Given the description of an element on the screen output the (x, y) to click on. 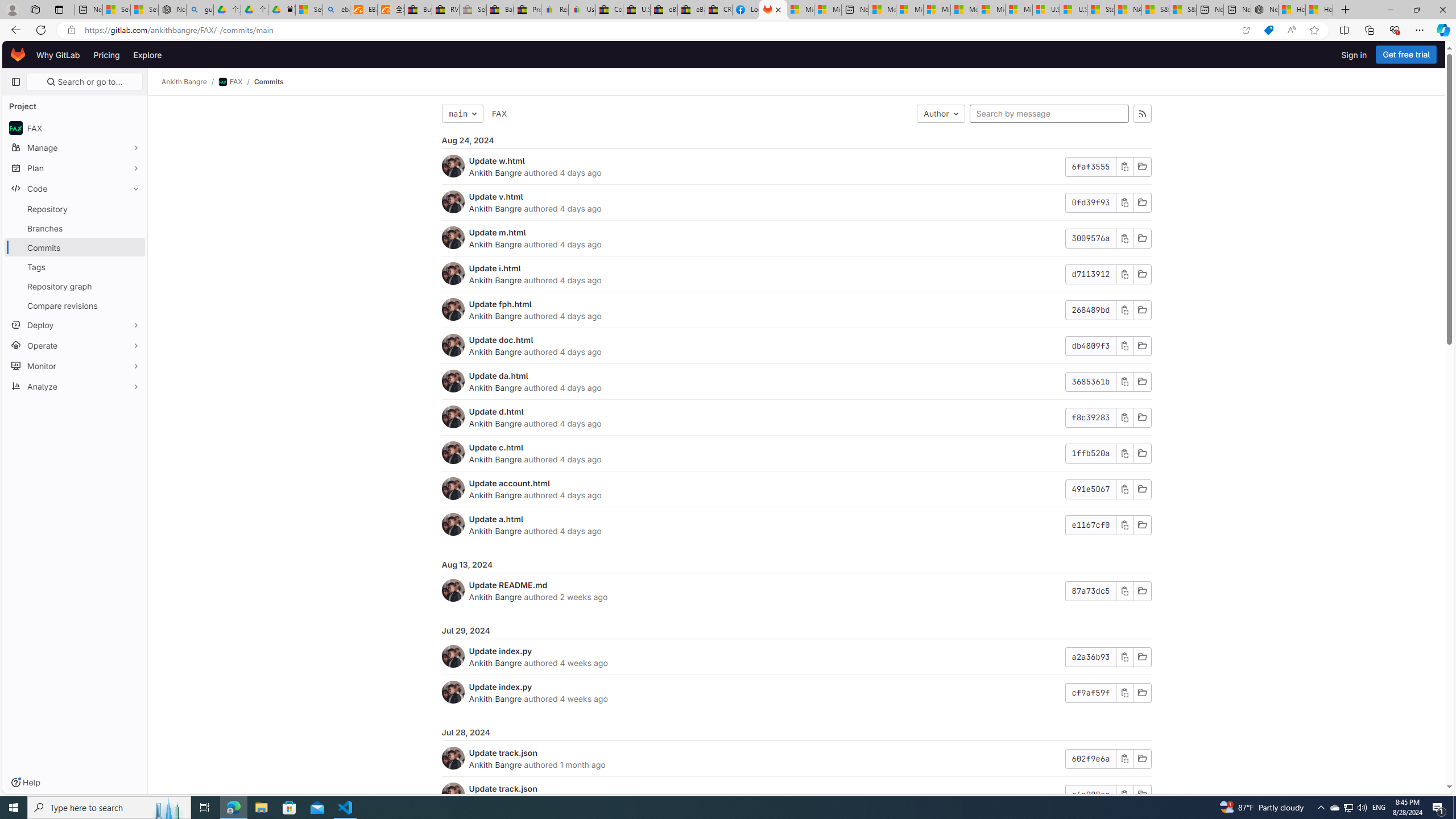
Get free trial (1406, 54)
Update w.htmlAnkith Bangre authored 4 days ago6faf3555 (796, 167)
Update index.pyAnkith Bangre authored 4 weeks agoa2a36b93 (796, 656)
User Privacy Notice | eBay (581, 9)
Update m.html (496, 232)
Why GitLab (58, 54)
Update w.html (496, 160)
Update v.htmlAnkith Bangre authored 4 days ago0fd39f93 (796, 202)
